Given the description of an element on the screen output the (x, y) to click on. 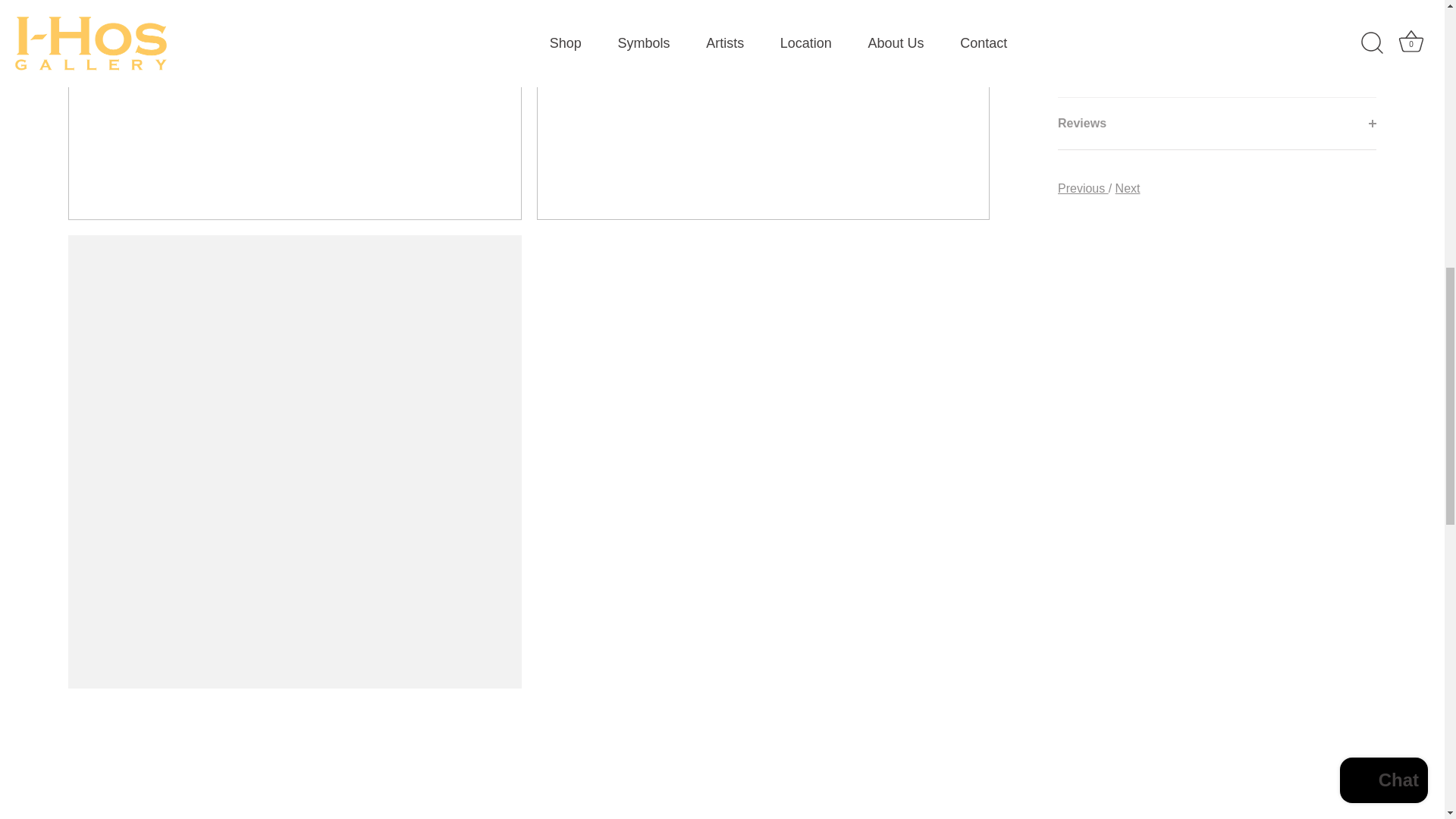
Embroidery Patch - Assorted Design (1127, 187)
Bookmark - Various Designs (1083, 187)
